Given the description of an element on the screen output the (x, y) to click on. 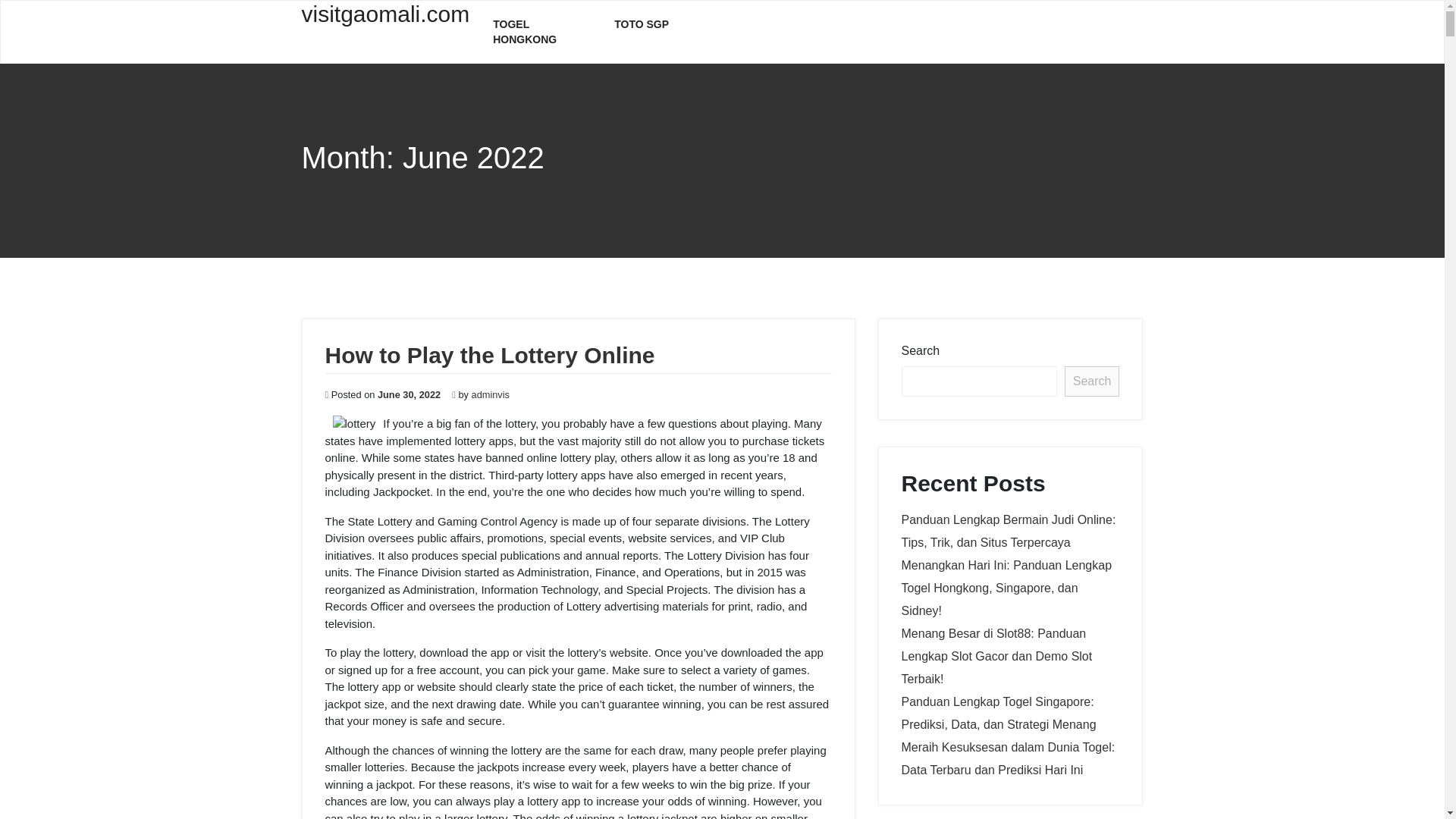
TOGEL HONGKONG (541, 31)
Togel Hongkong (541, 31)
How to Play the Lottery Online (488, 355)
June 30, 2022 (409, 394)
visitgaomali.com (385, 22)
TOTO SGP (641, 23)
adminvis (491, 394)
Toto Sgp (641, 23)
